Given the description of an element on the screen output the (x, y) to click on. 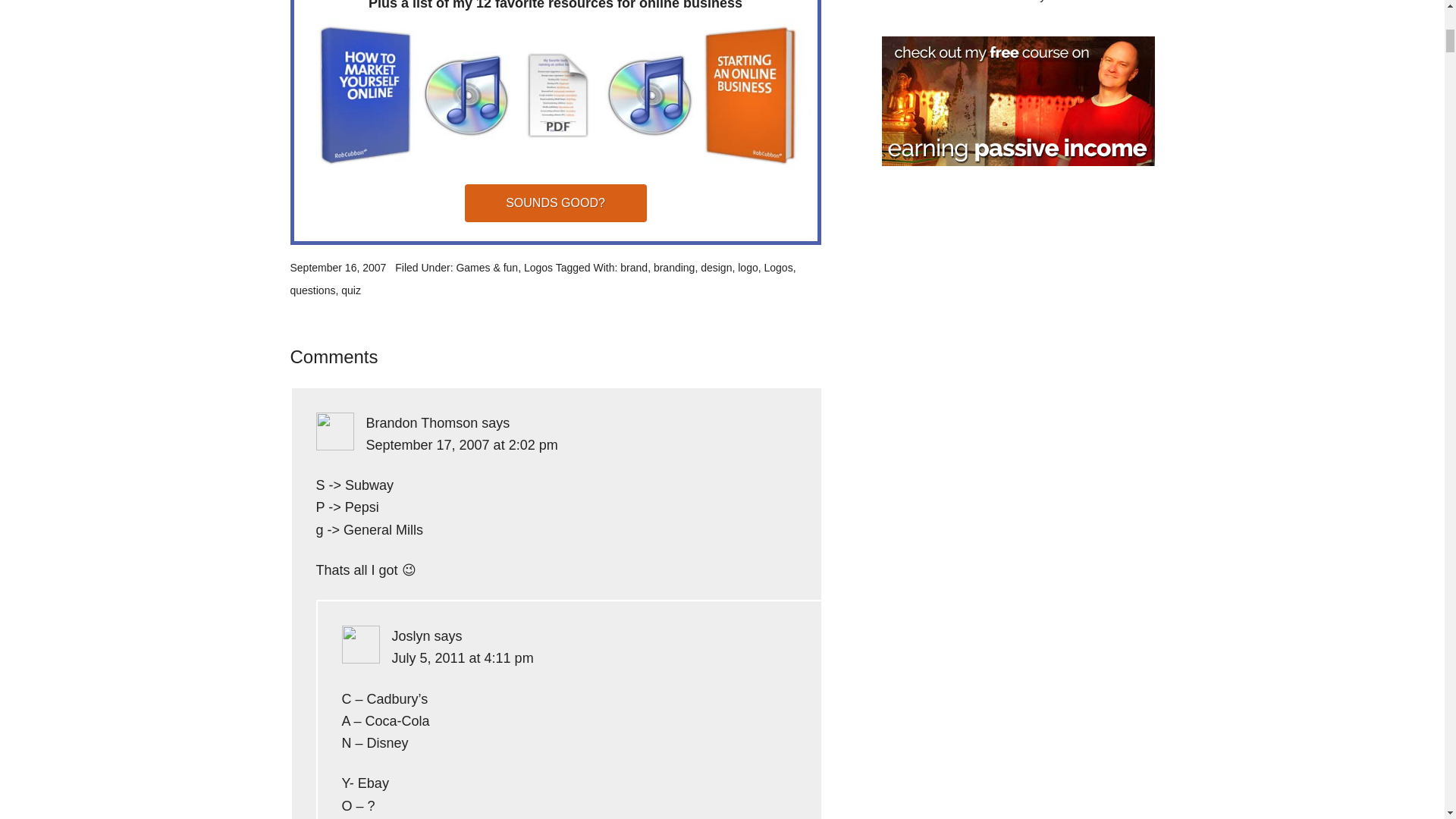
branding (674, 267)
Logos (777, 267)
brand (633, 267)
YouTube channel (920, 1)
logo (747, 267)
questions (311, 290)
design (716, 267)
quiz (350, 290)
July 5, 2011 at 4:11 pm (461, 657)
September 17, 2007 at 2:02 pm (461, 444)
Logos (538, 267)
SOUNDS GOOD? (555, 202)
Brandon Thomson (421, 422)
